Given the description of an element on the screen output the (x, y) to click on. 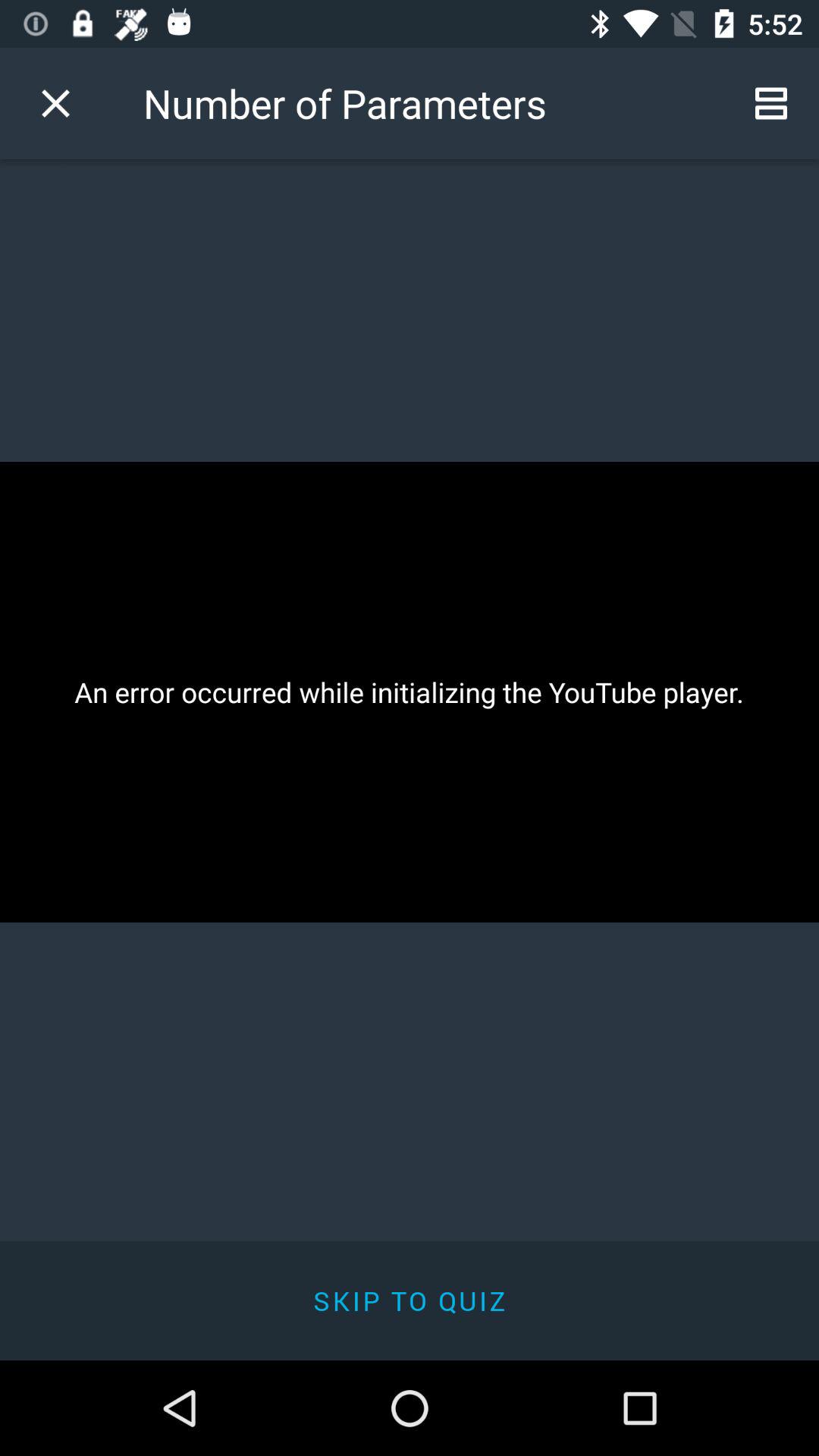
turn on icon at the top right corner (771, 103)
